Given the description of an element on the screen output the (x, y) to click on. 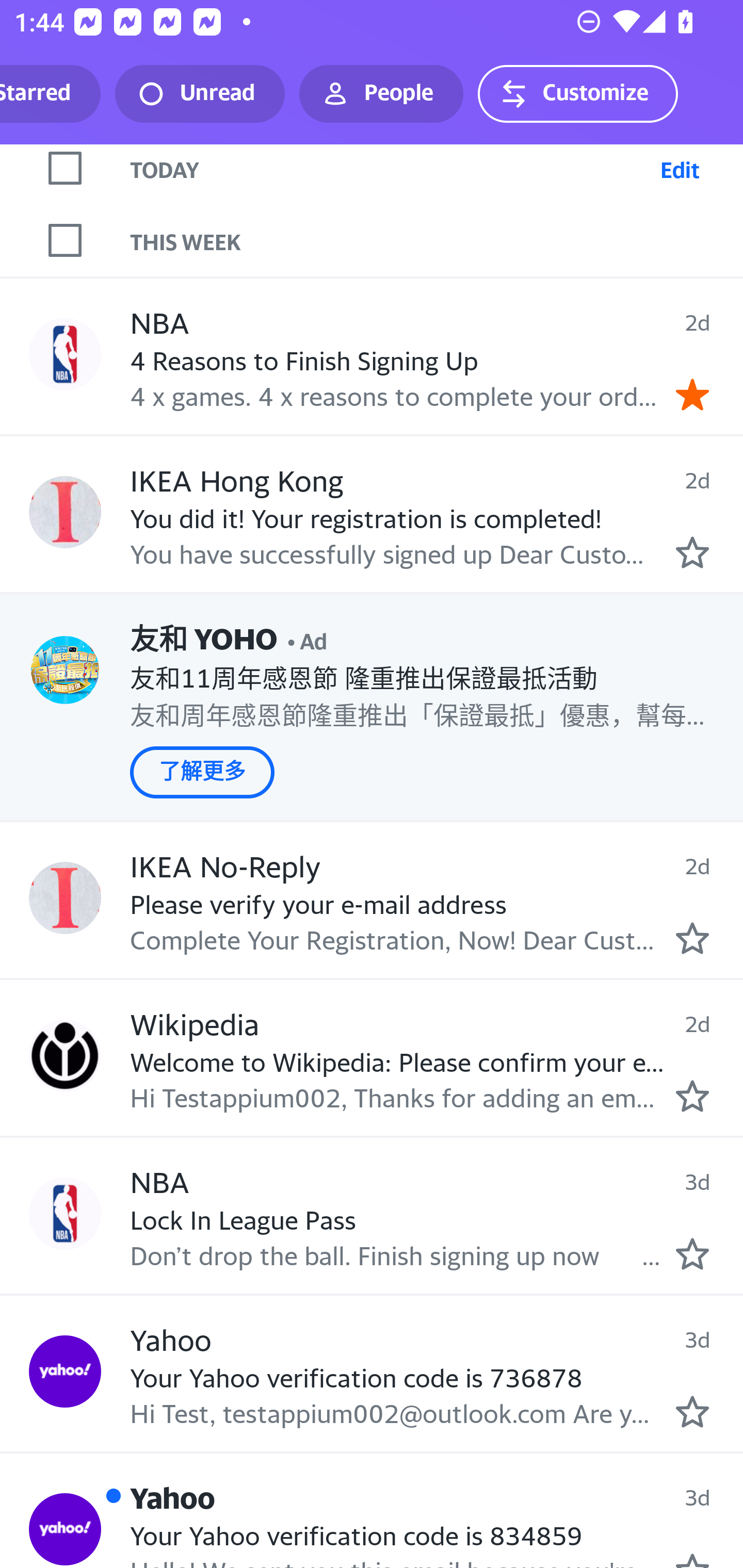
Unread (199, 93)
People (381, 93)
Customize (577, 93)
THIS WEEK (436, 240)
Profile
NBA (64, 354)
Remove star. (692, 394)
Profile
IKEA Hong Kong (64, 512)
Mark as starred. (692, 552)
Profile
IKEA No-Reply (64, 898)
Mark as starred. (692, 938)
Profile
Wikipedia (64, 1055)
Mark as starred. (692, 1096)
Profile
NBA (64, 1213)
Mark as starred. (692, 1253)
Profile
Yahoo (64, 1371)
Mark as starred. (692, 1411)
Profile
Yahoo (64, 1528)
